Given the description of an element on the screen output the (x, y) to click on. 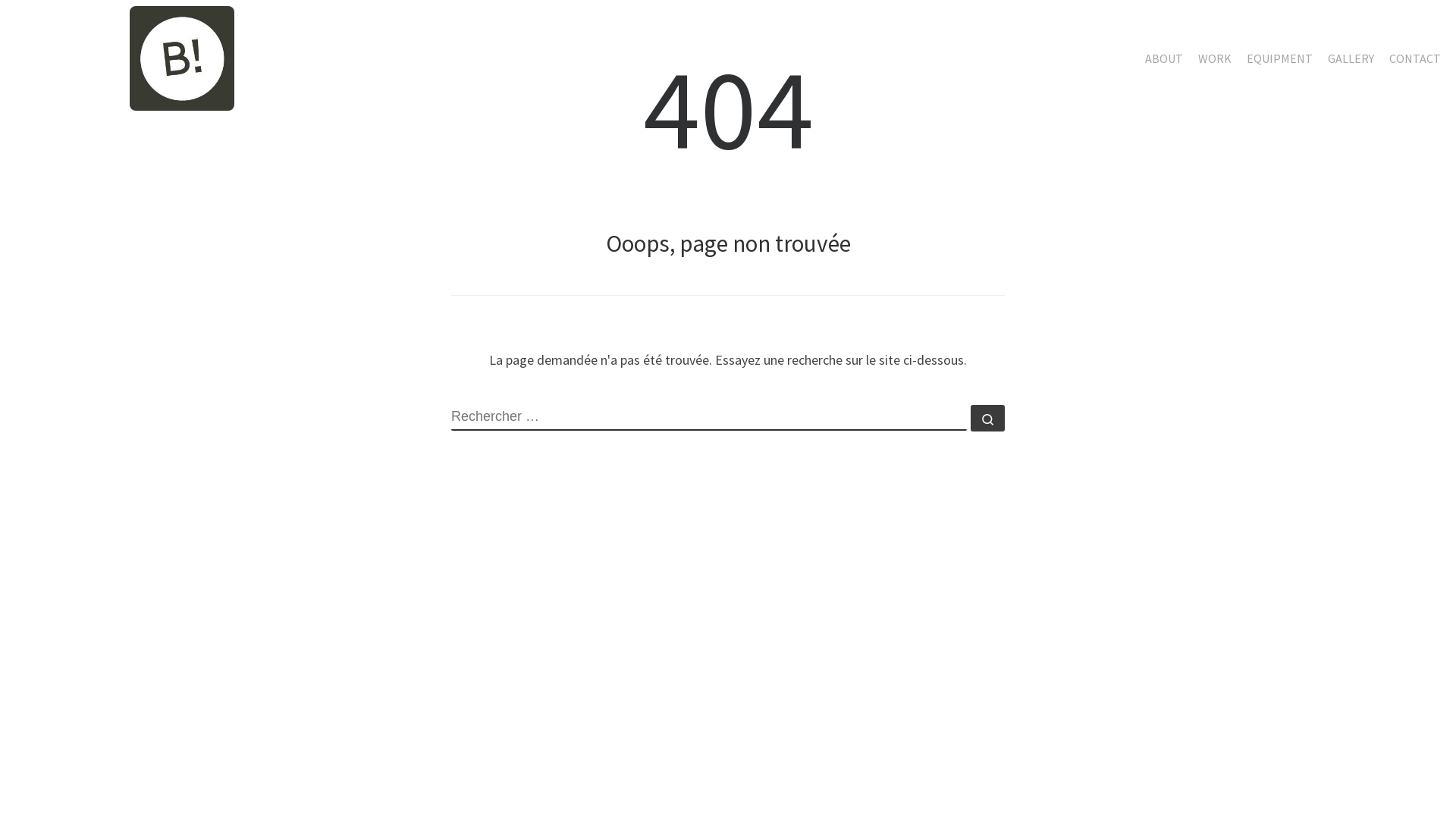
GALLERY Element type: text (1350, 58)
Skip to content Element type: text (0, 0)
ABOUT Element type: text (1163, 58)
EQUIPMENT Element type: text (1279, 58)
CONTACT Element type: text (1414, 58)
WORK Element type: text (1214, 58)
